Given the description of an element on the screen output the (x, y) to click on. 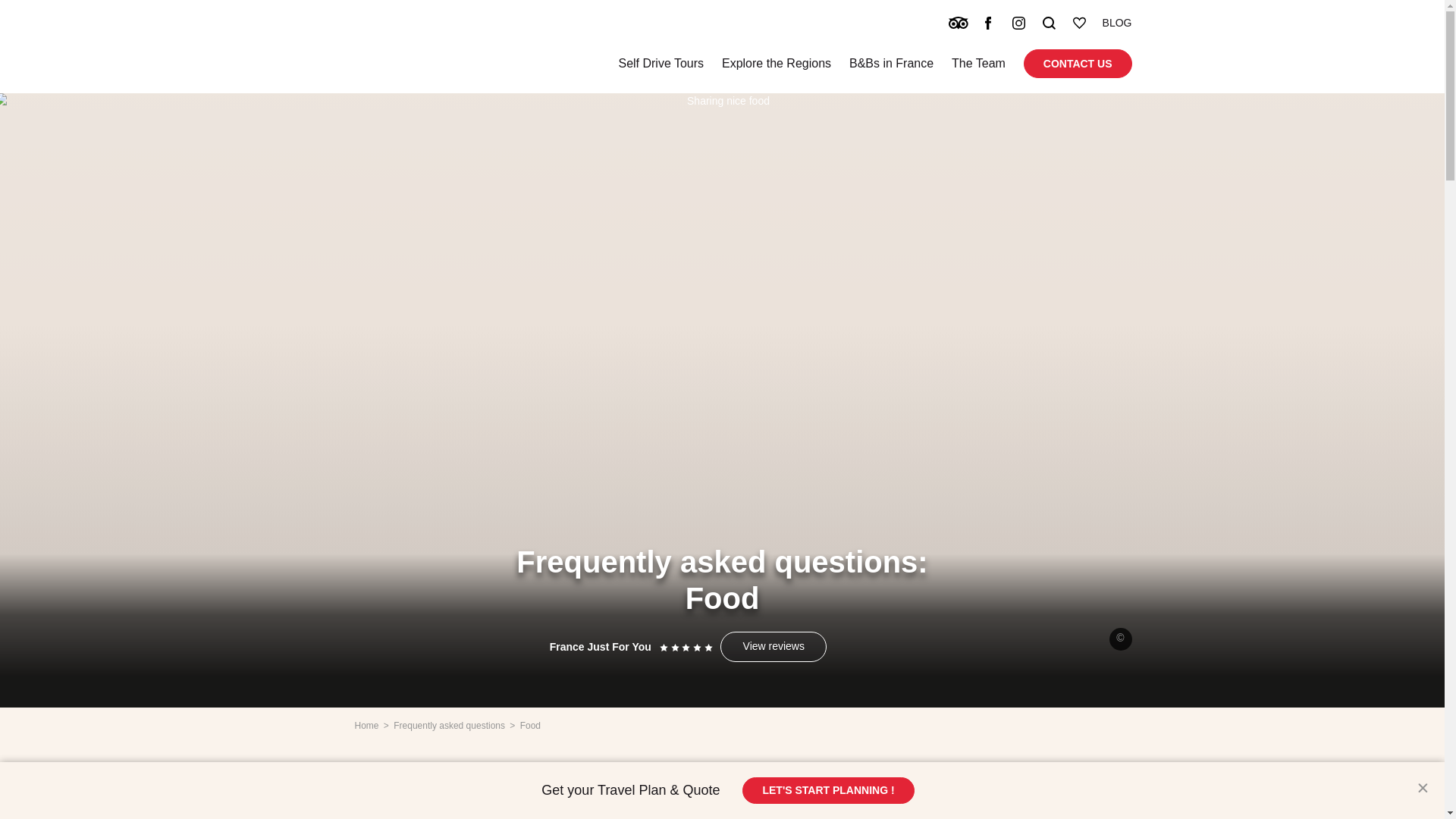
FACEBOOK (988, 22)
INSTAGRAM (1018, 22)
France Just For You on tripadvisor (958, 22)
Explore the French regions (776, 63)
See our tour samples (660, 63)
Visit our blog (1117, 23)
Search the whole website (1049, 22)
BLOG (1117, 23)
TRIP ADVISOR (958, 22)
WHISHLIST (1081, 22)
